Given the description of an element on the screen output the (x, y) to click on. 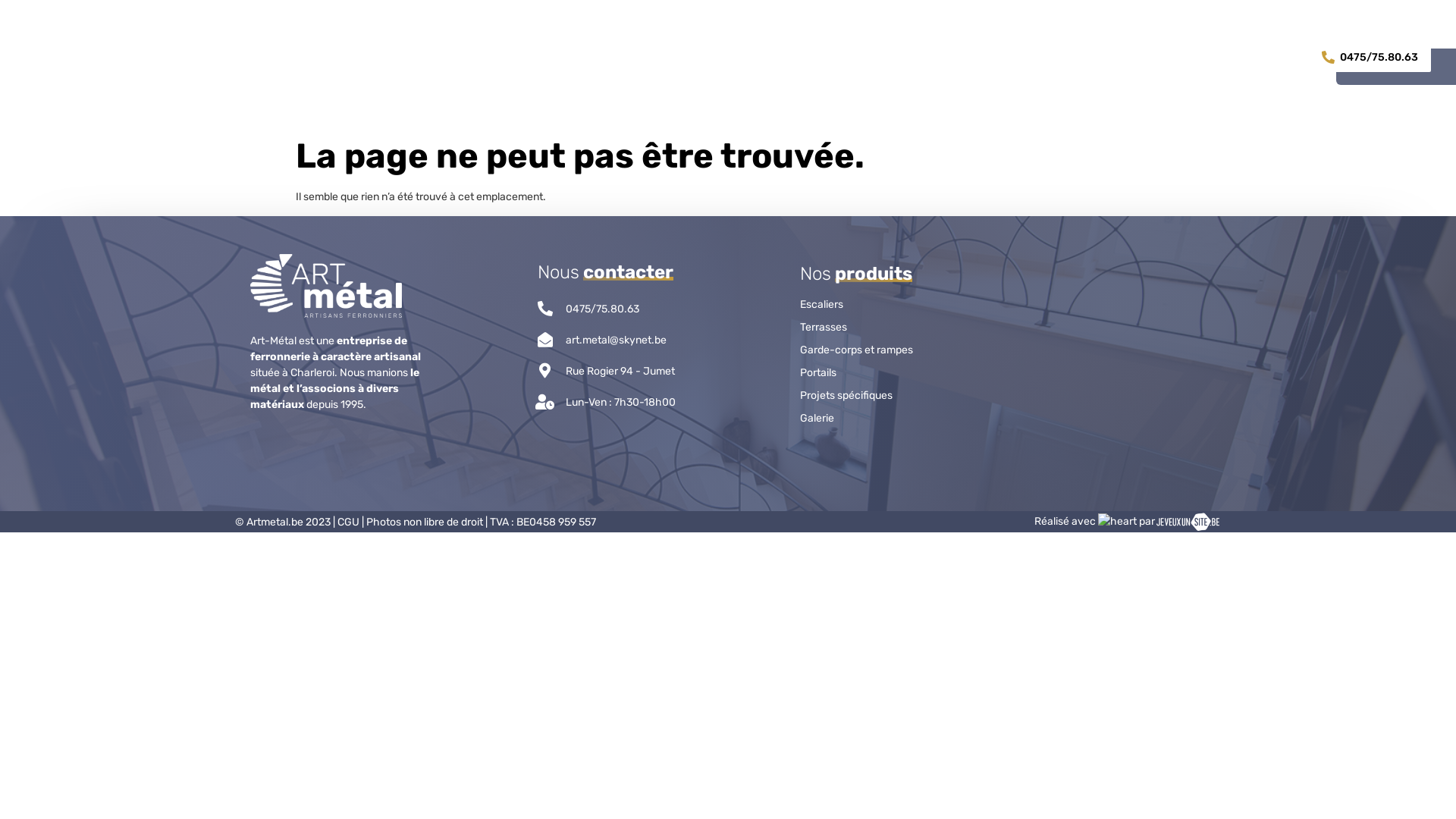
Garde-corps et rampes Element type: text (872, 349)
SERVICES Element type: text (800, 59)
Escaliers Element type: text (872, 304)
0475/75.80.63 Element type: text (602, 308)
0475/75.80.63 Element type: text (1368, 57)
Terrasses Element type: text (872, 327)
CONTACT Element type: text (973, 59)
PRODUITS Element type: text (609, 59)
art.metal@skynet.be Element type: text (615, 339)
ACCUEIL Element type: text (517, 59)
Galerie Element type: text (872, 418)
CGU Element type: text (348, 521)
GALERIE Element type: text (890, 59)
Portails Element type: text (872, 372)
